Given the description of an element on the screen output the (x, y) to click on. 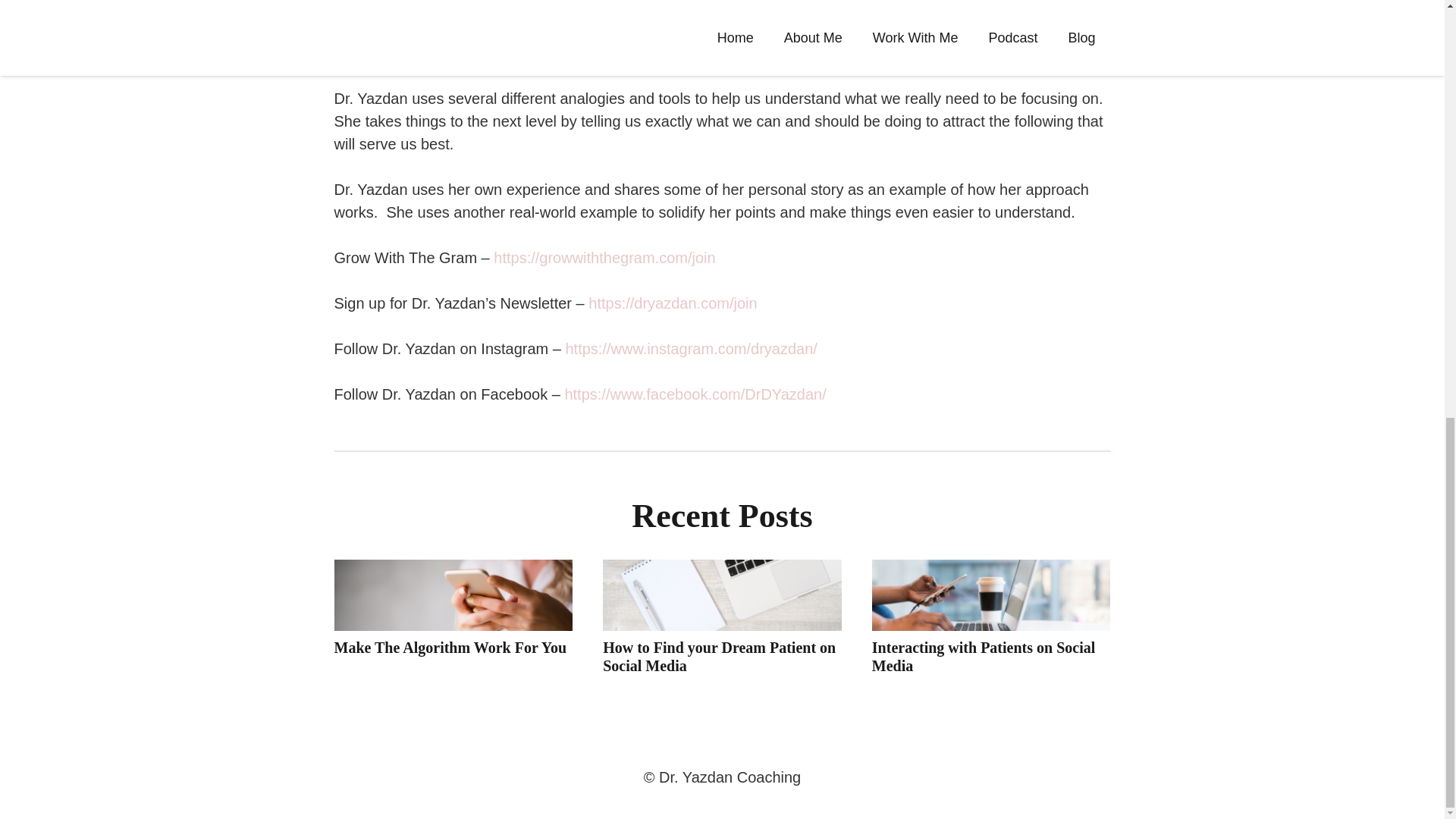
Make The Algorithm Work For You (449, 647)
Interacting with Patients on Social Media (983, 656)
Back to top (1413, 4)
How to Find your Dream Patient on Social Media (718, 656)
